Given the description of an element on the screen output the (x, y) to click on. 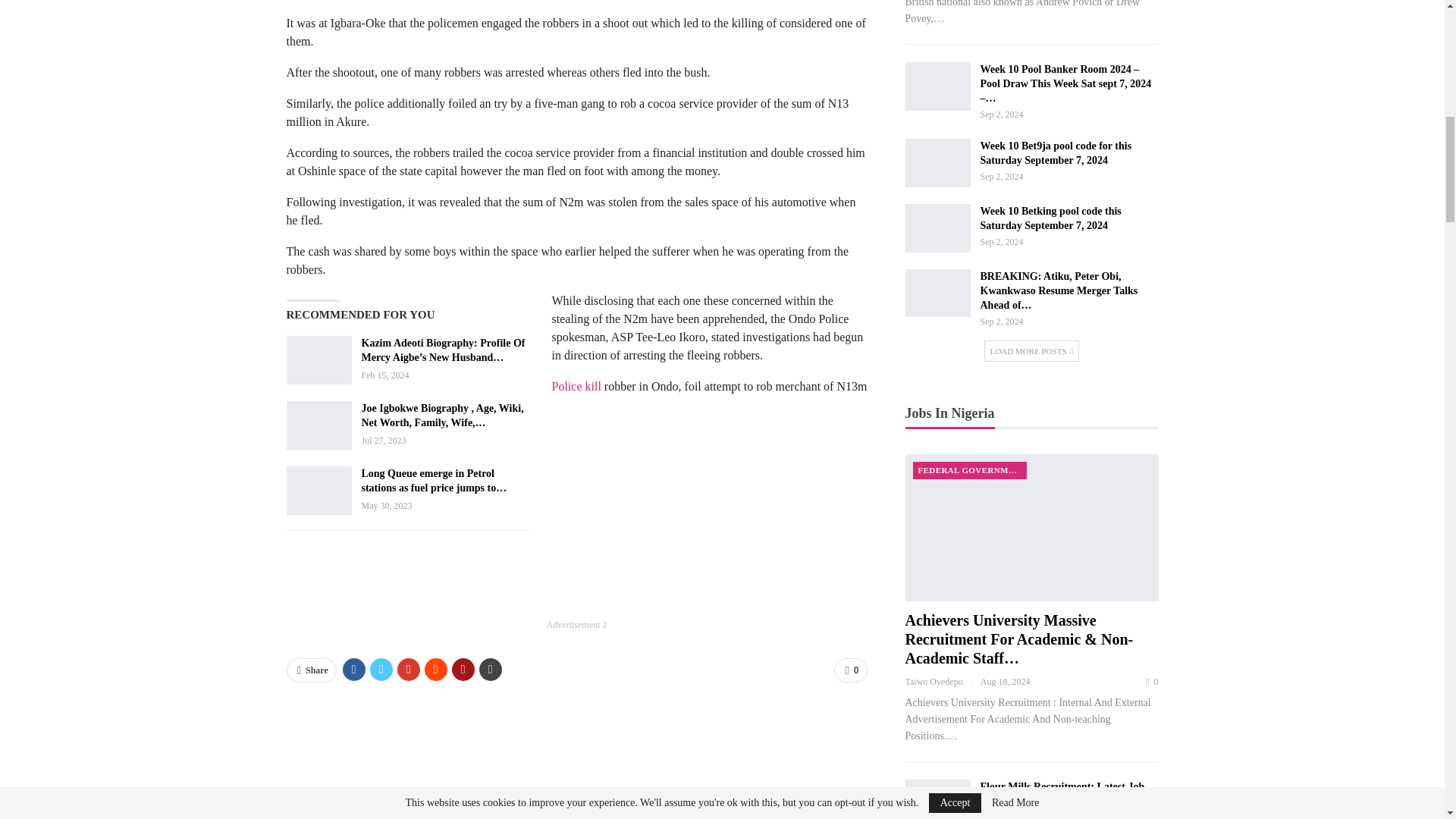
Posts tagged with Police kill (576, 386)
Advertisement (575, 576)
